Given the description of an element on the screen output the (x, y) to click on. 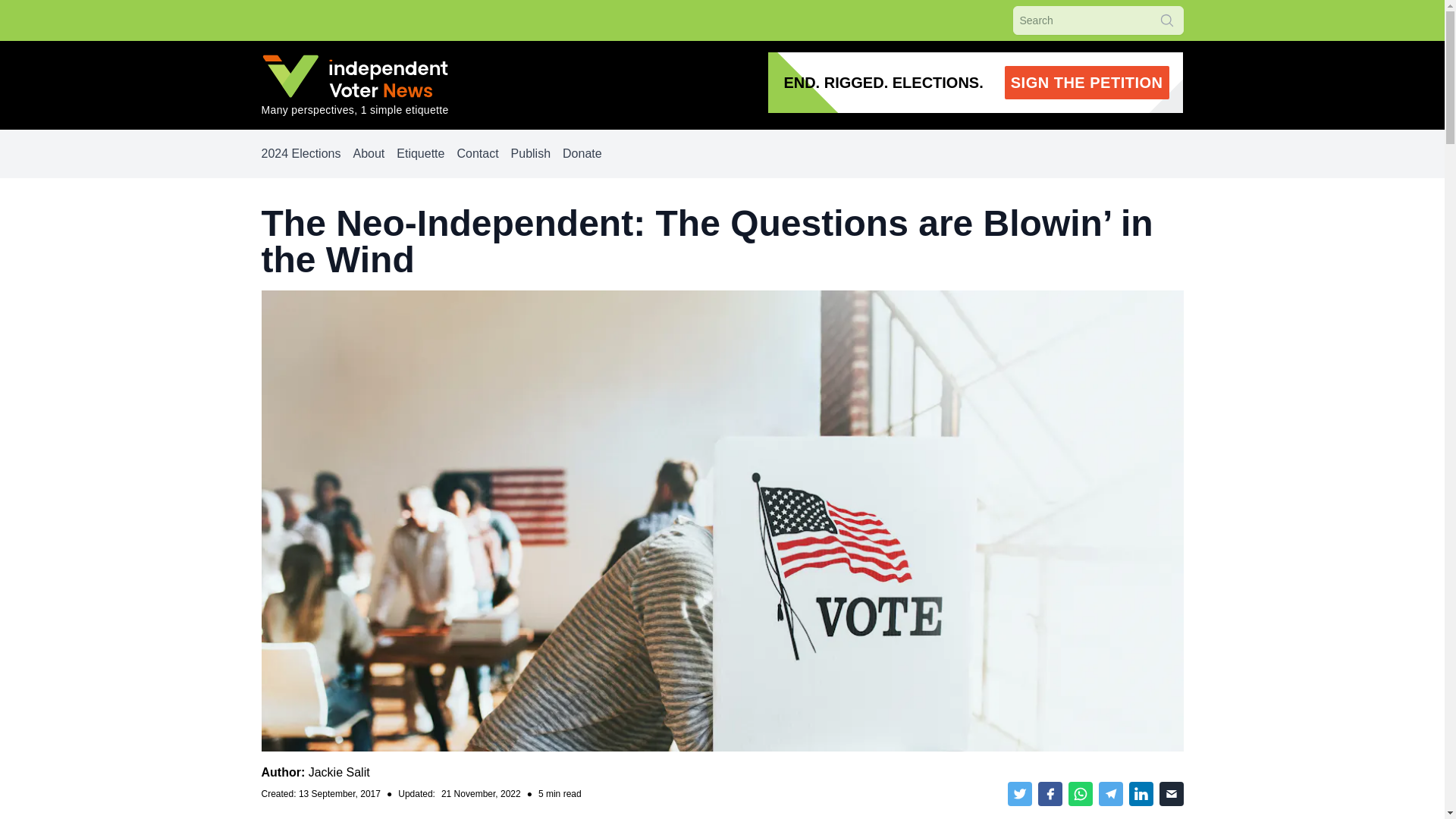
Donate (582, 153)
Contact (477, 153)
About (368, 153)
Publish (530, 153)
Etiquette (975, 82)
Jackie Salit (420, 153)
2024 Elections (338, 771)
